Given the description of an element on the screen output the (x, y) to click on. 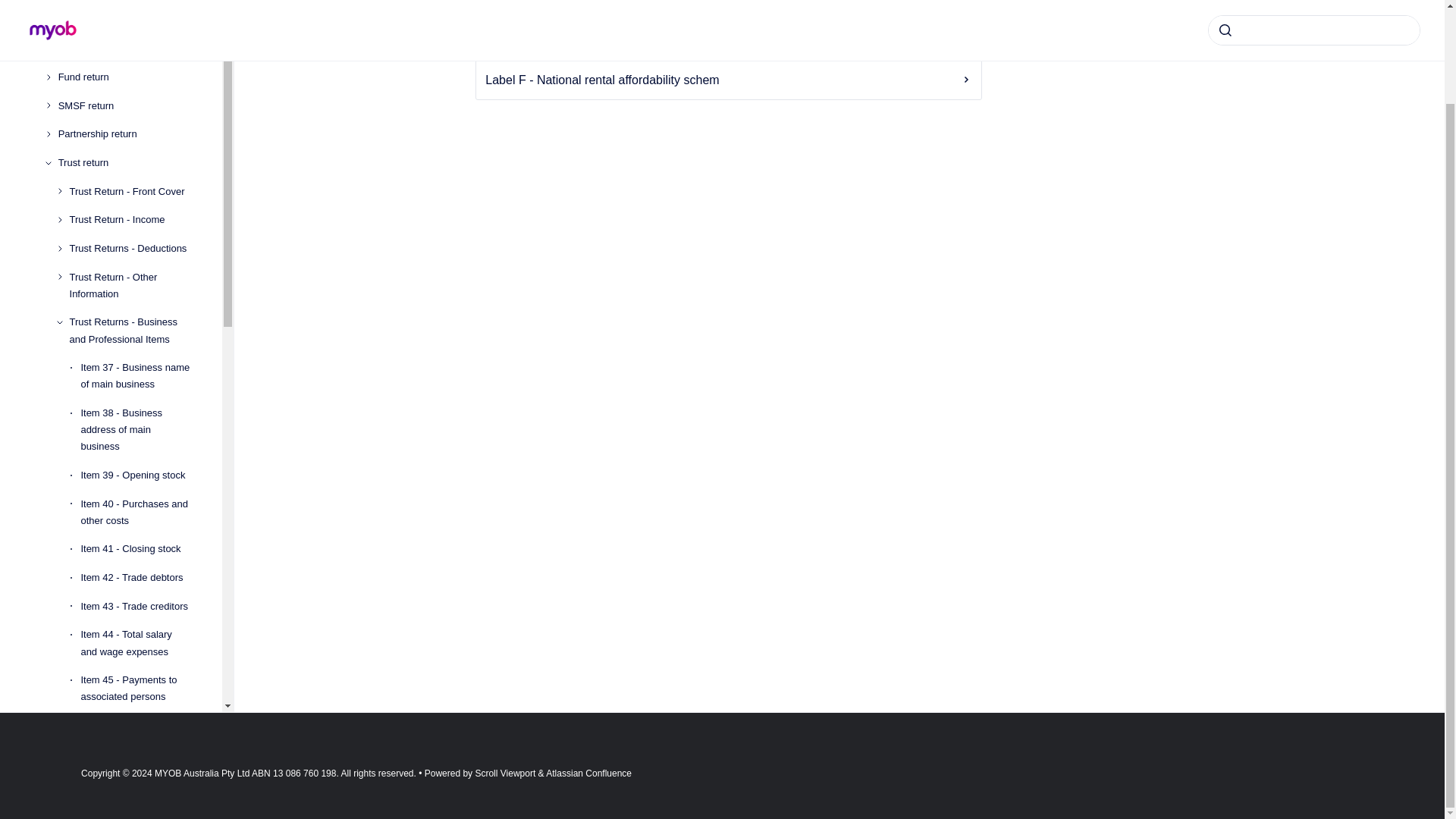
Item 43 - Trade creditors (139, 605)
Item 44 - Total salary and wage expenses (139, 643)
Welcome to MYOB Tax 2020 (122, 2)
Trust Return - Other Information (133, 285)
Item 39 - Opening stock (139, 474)
Trust Returns - Deductions (133, 248)
Item 41 - Closing stock (139, 549)
Item 47 - Unpaid present entitlement to a private company (139, 787)
Item 45 - Payments to associated persons (139, 688)
Item 40 - Purchases and other costs (139, 512)
Item 46 - Fringe benefit employee contributions (139, 733)
Fund return (128, 76)
SMSF return (128, 105)
Item 37 - Business name of main business (139, 375)
Company return (128, 48)
